Given the description of an element on the screen output the (x, y) to click on. 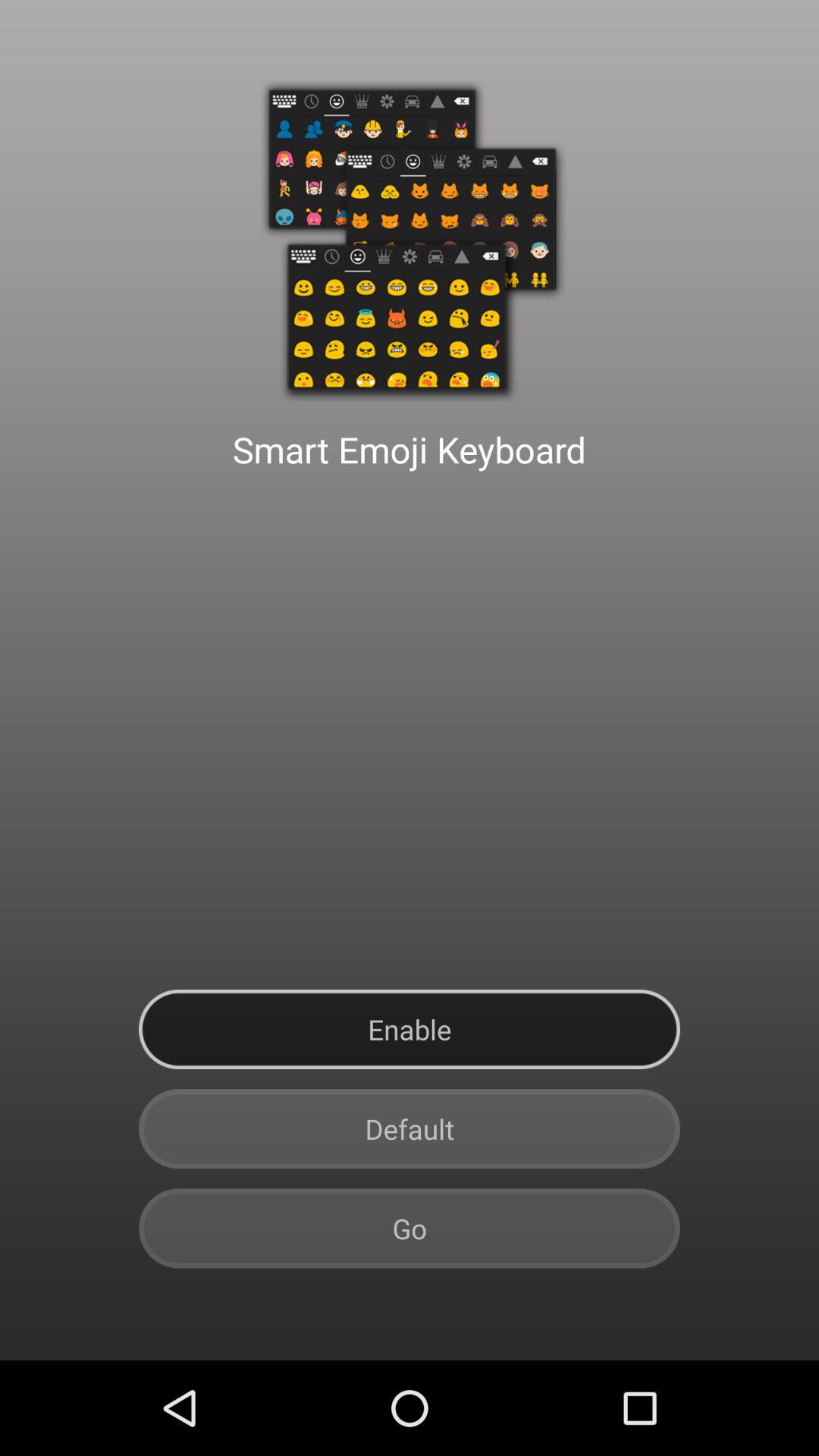
open button below the enable button (409, 1128)
